Given the description of an element on the screen output the (x, y) to click on. 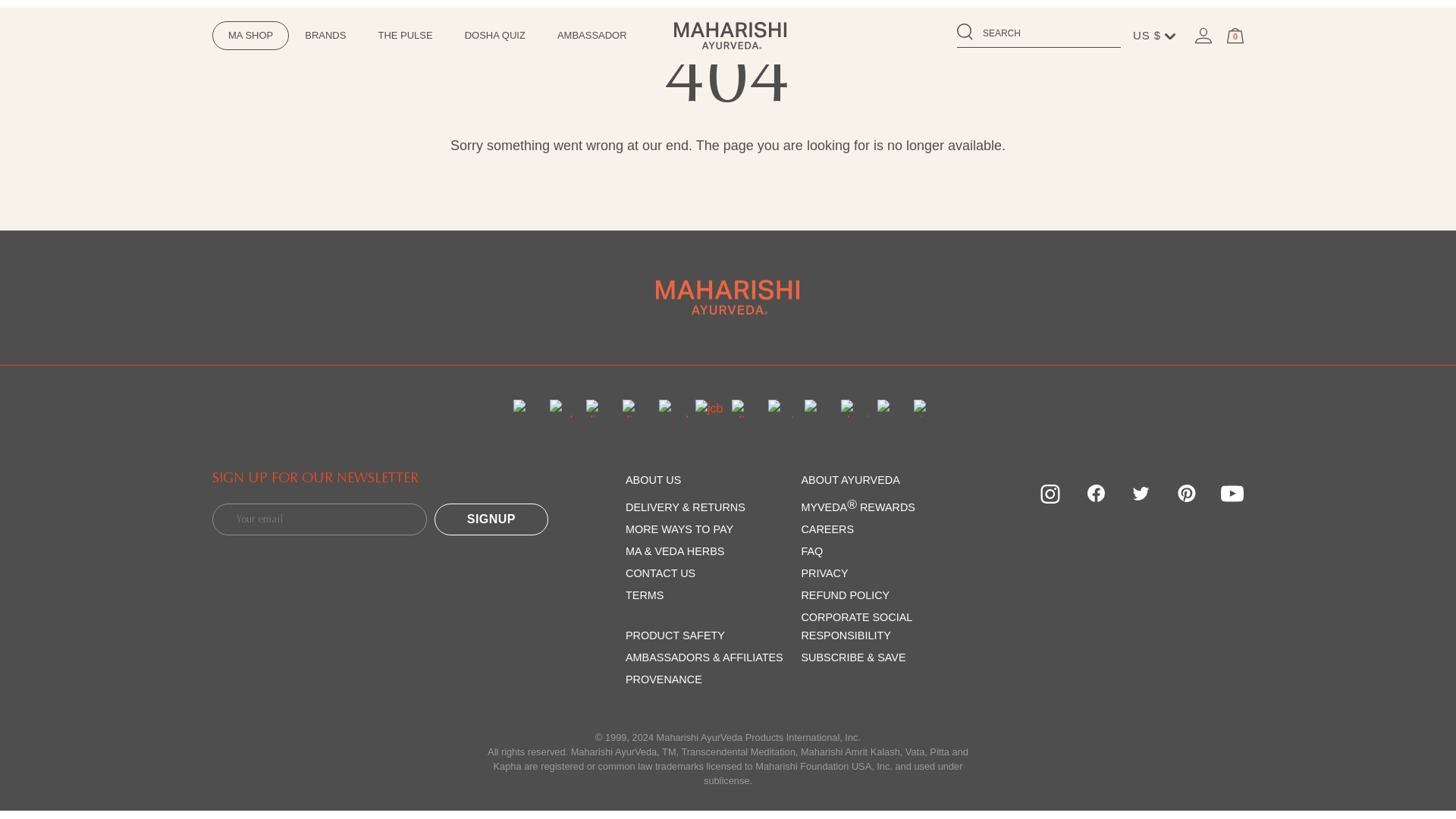
AMBASSADOR (592, 35)
DOSHA QUIZ (494, 35)
THE PULSE (404, 35)
MA SHOP (250, 35)
BRANDS (324, 35)
